Given the description of an element on the screen output the (x, y) to click on. 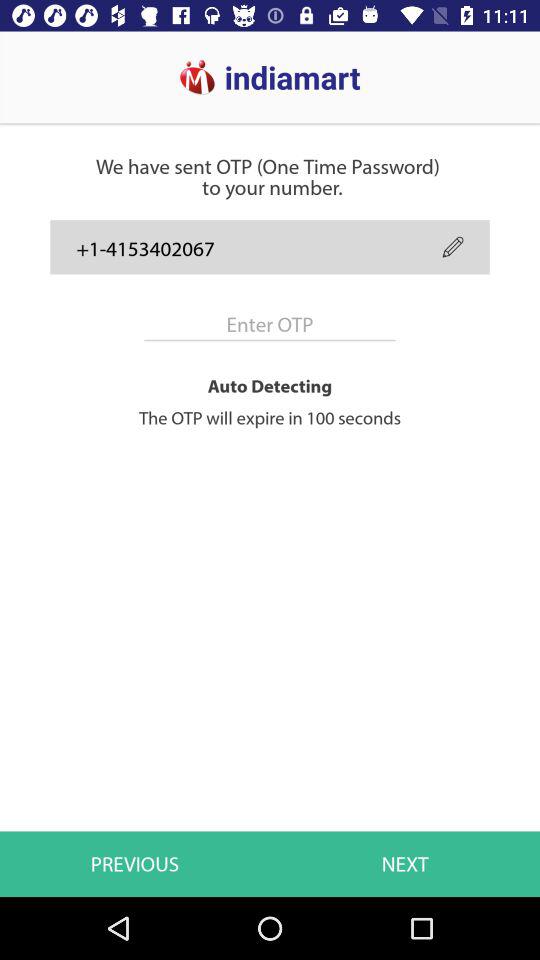
turn off the icon next to +1-4153402067 icon (452, 246)
